Given the description of an element on the screen output the (x, y) to click on. 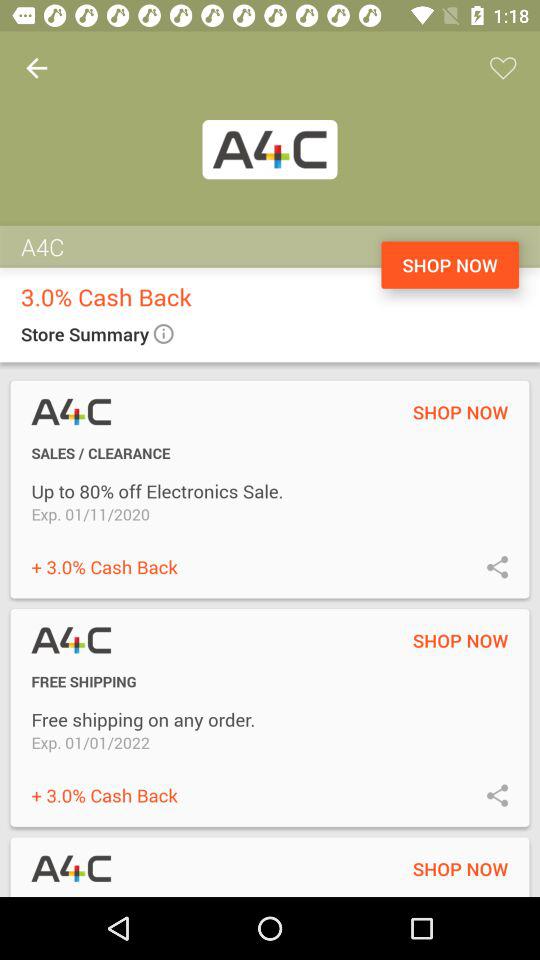
this button is used to share information to others (497, 794)
